Given the description of an element on the screen output the (x, y) to click on. 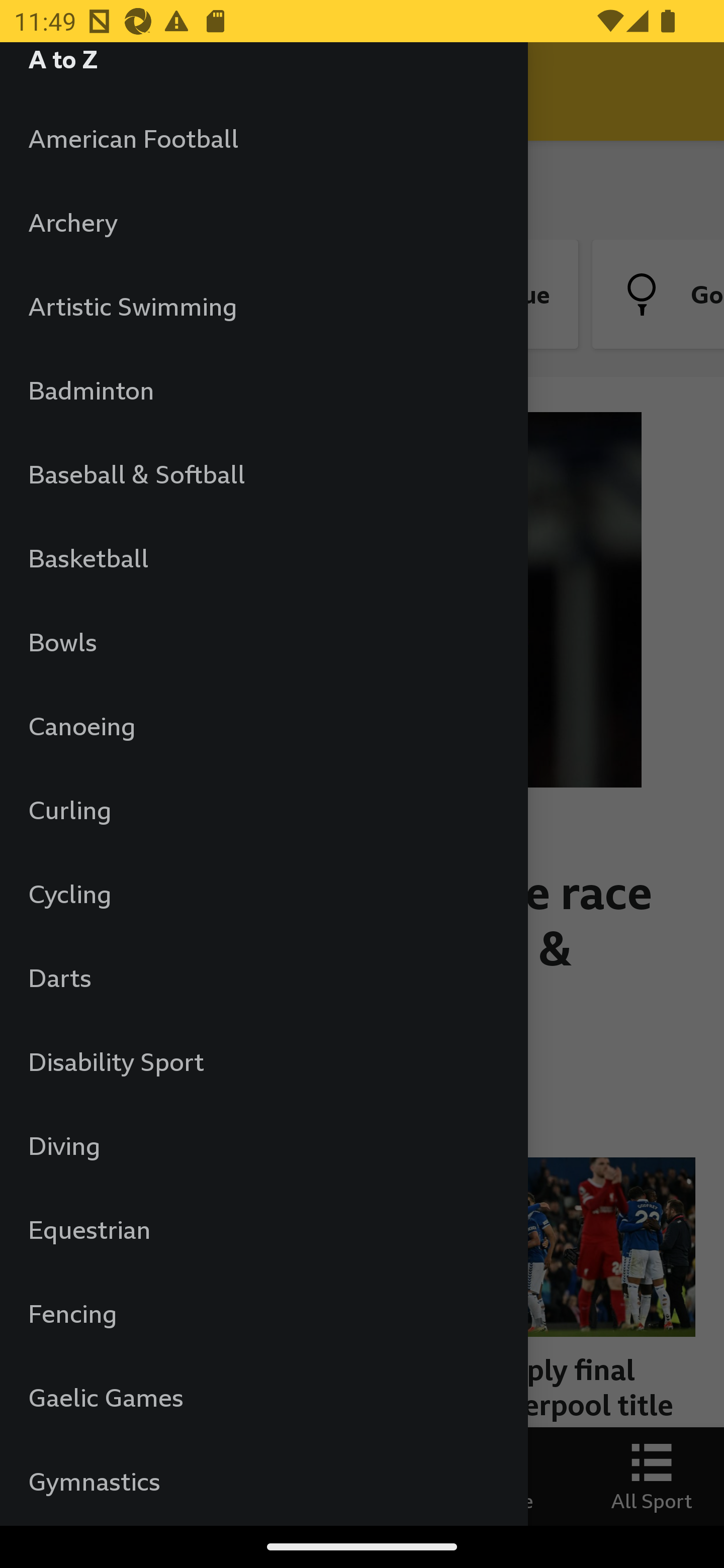
A to Z (263, 69)
American Football (263, 137)
Archery (263, 222)
Artistic Swimming (263, 305)
Badminton (263, 390)
Baseball & Softball (263, 473)
Basketball (263, 557)
Bowls (263, 640)
Canoeing (263, 725)
Curling (263, 808)
Cycling (263, 893)
Darts (263, 976)
Disability Sport (263, 1061)
Diving (263, 1144)
Equestrian (263, 1228)
Fencing (263, 1312)
Gaelic Games (263, 1396)
Gymnastics (263, 1480)
